Given the description of an element on the screen output the (x, y) to click on. 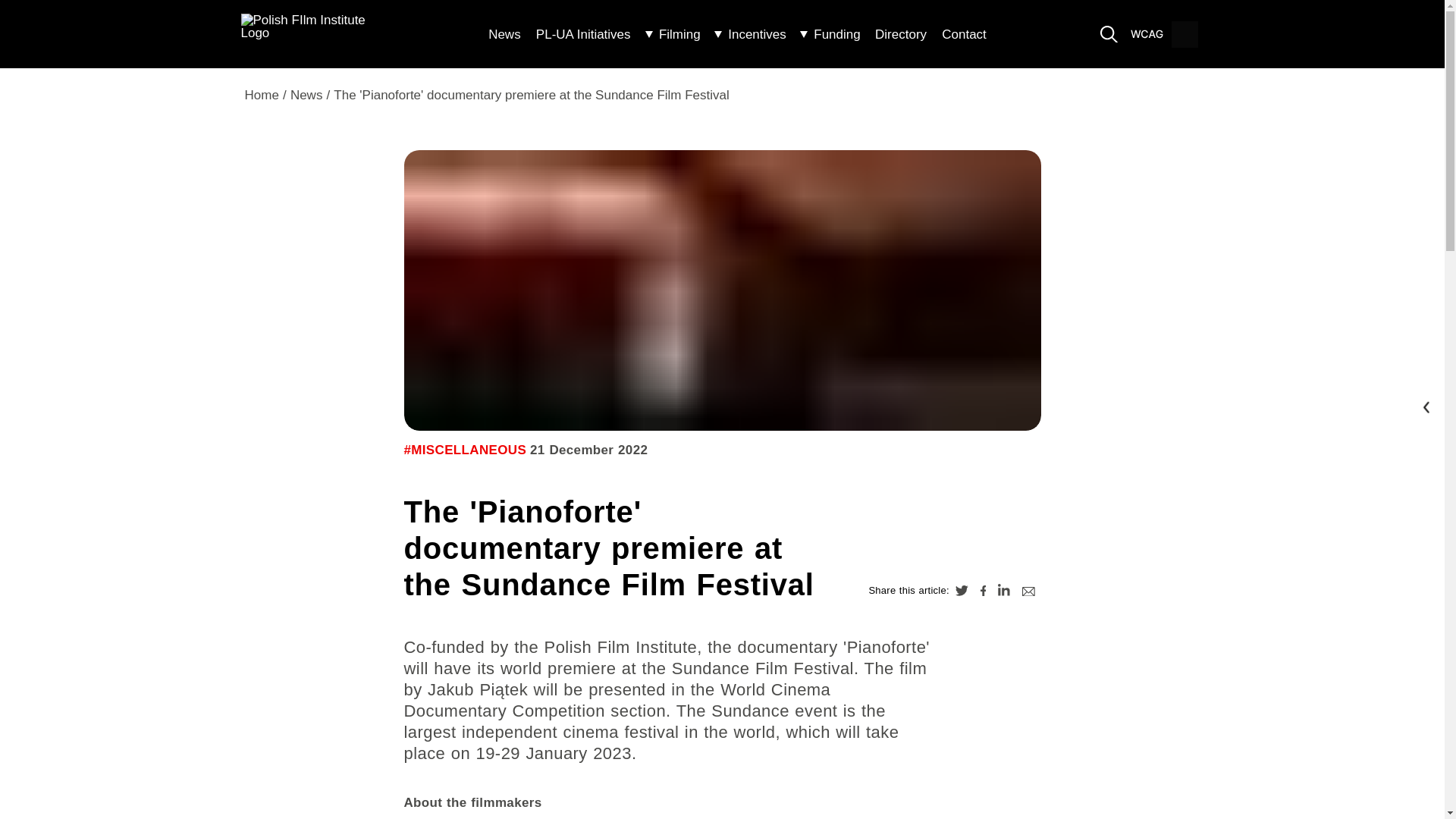
Contact (963, 33)
Incentives (750, 33)
News (504, 33)
Filming (672, 33)
Go to homepage (313, 34)
Directory (900, 33)
PL-UA Initiatives (583, 33)
Funding (829, 33)
Show accessibility configuration menu (1147, 34)
Toggle the search bar (1109, 34)
